Given the description of an element on the screen output the (x, y) to click on. 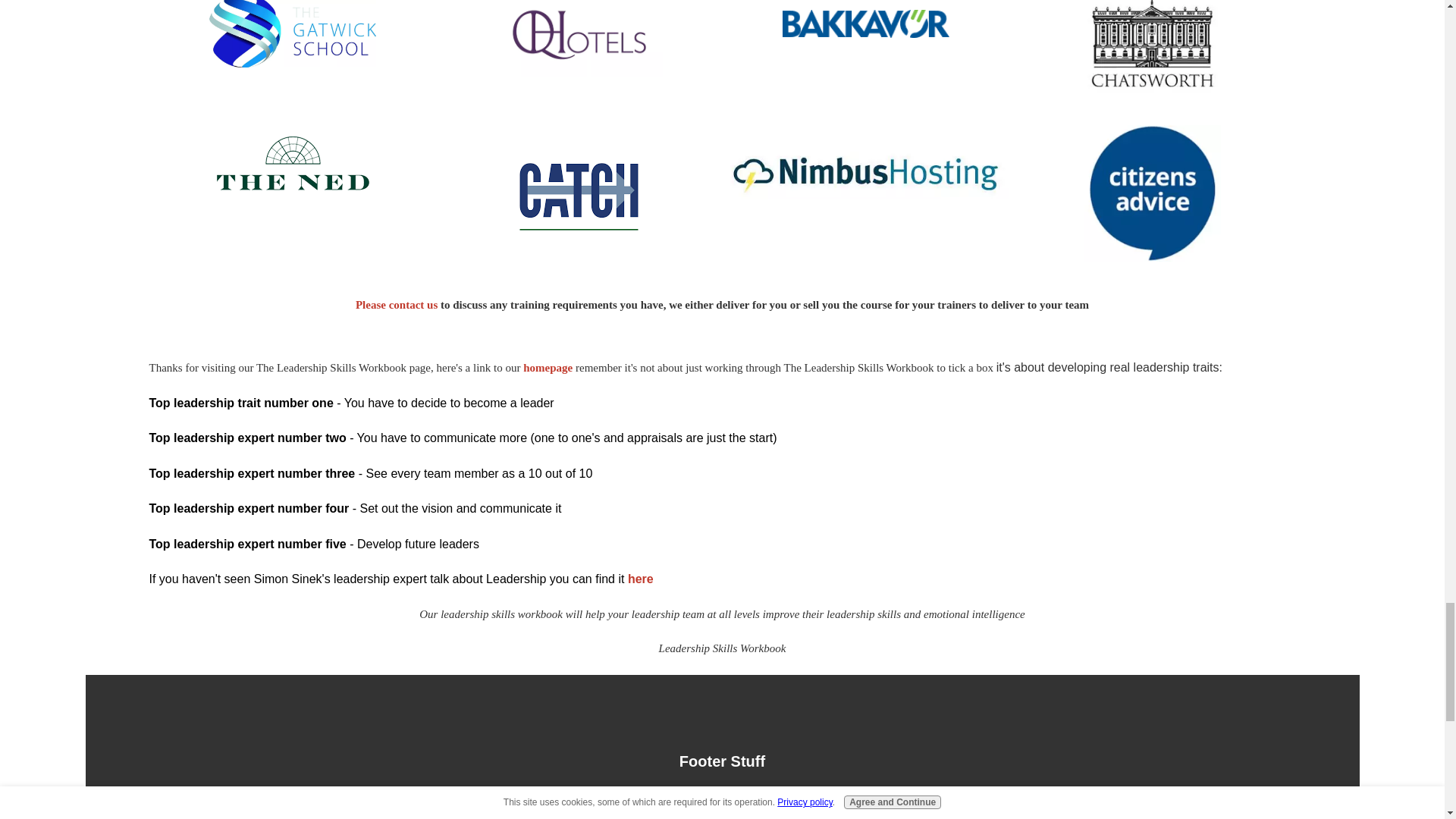
here (640, 578)
Nimbus (865, 170)
CAB (1152, 193)
Gatwick School (292, 33)
homepage (547, 367)
ned (292, 162)
Please contact us (396, 304)
catch (578, 196)
